Given the description of an element on the screen output the (x, y) to click on. 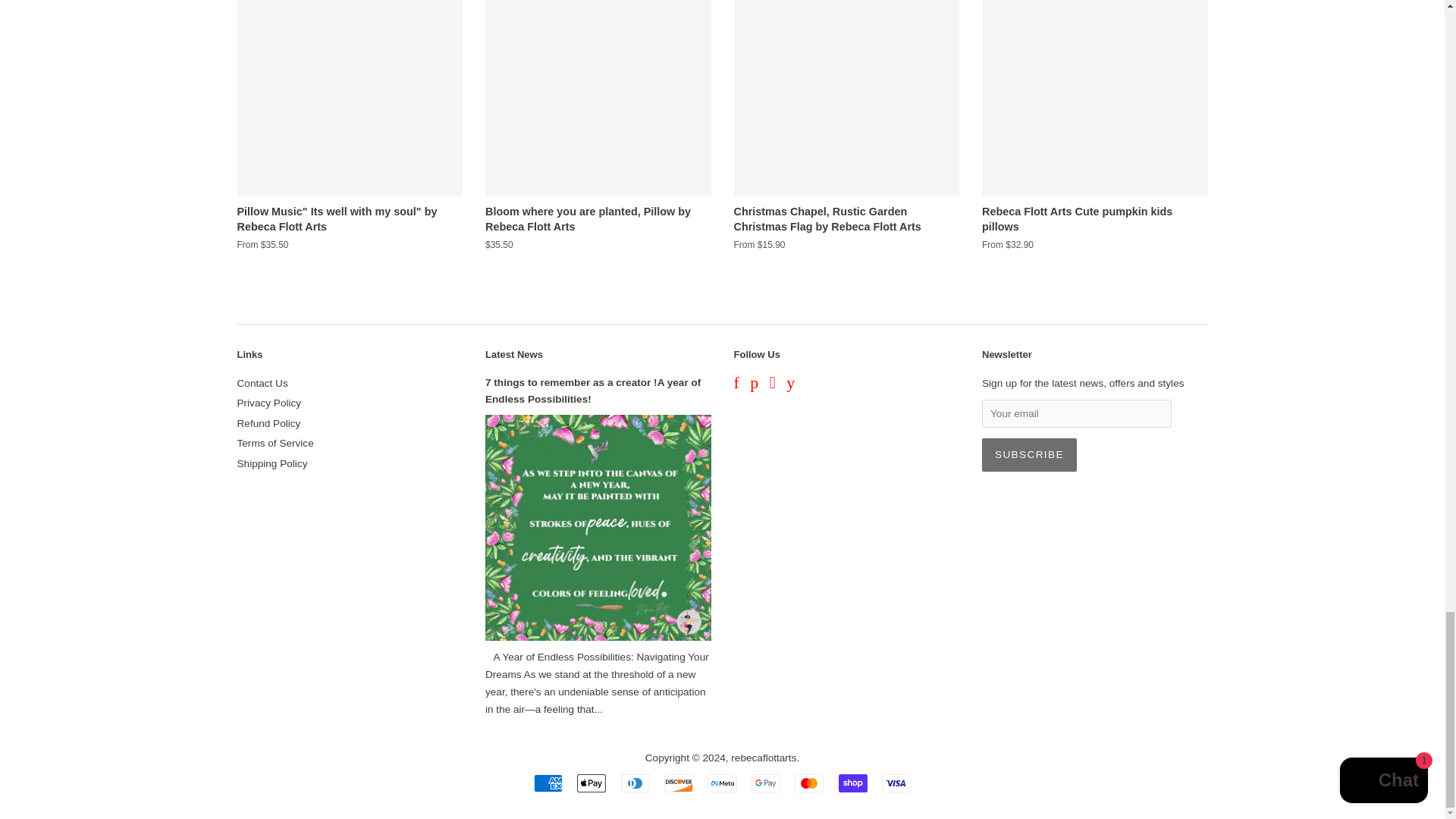
Subscribe (1029, 454)
Mastercard (809, 782)
Meta Pay (721, 782)
Diners Club (635, 782)
Google Pay (765, 782)
Shop Pay (852, 782)
Apple Pay (590, 782)
American Express (548, 782)
Discover (678, 782)
Visa (896, 782)
